Given the description of an element on the screen output the (x, y) to click on. 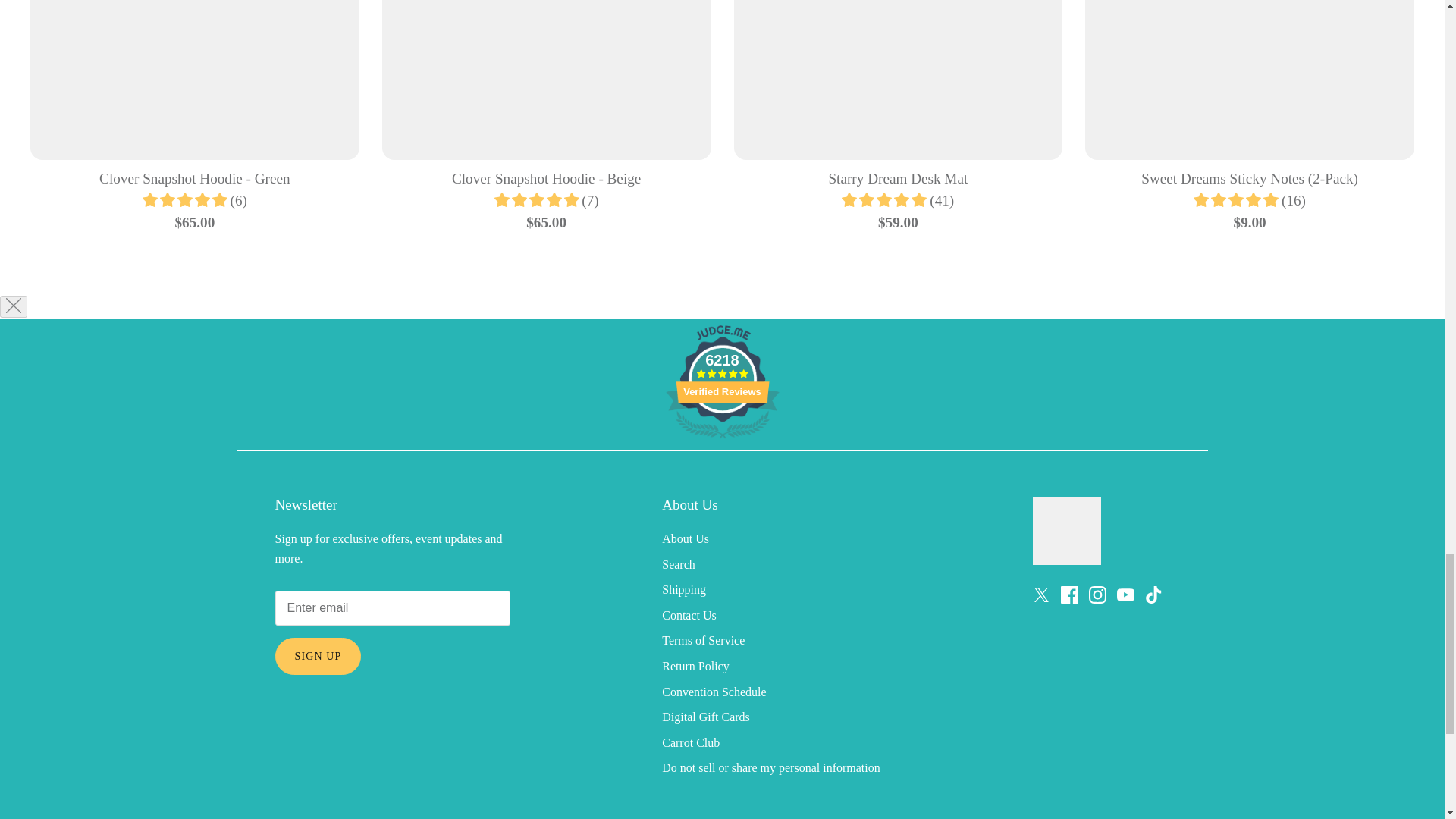
Instagram (1097, 594)
X (1040, 594)
Youtube (1125, 594)
Facebook (1068, 594)
